Given the description of an element on the screen output the (x, y) to click on. 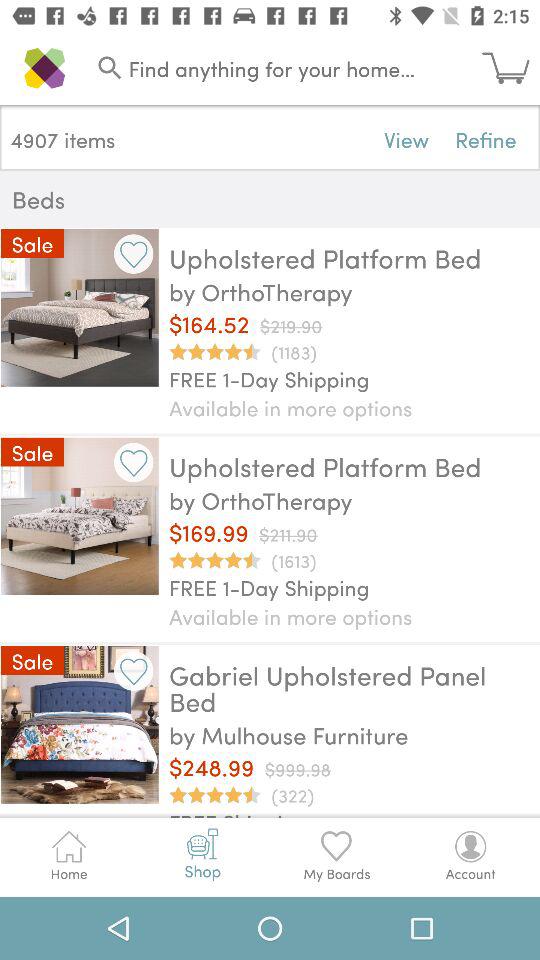
favorites the option for gabriel bed (133, 670)
